Given the description of an element on the screen output the (x, y) to click on. 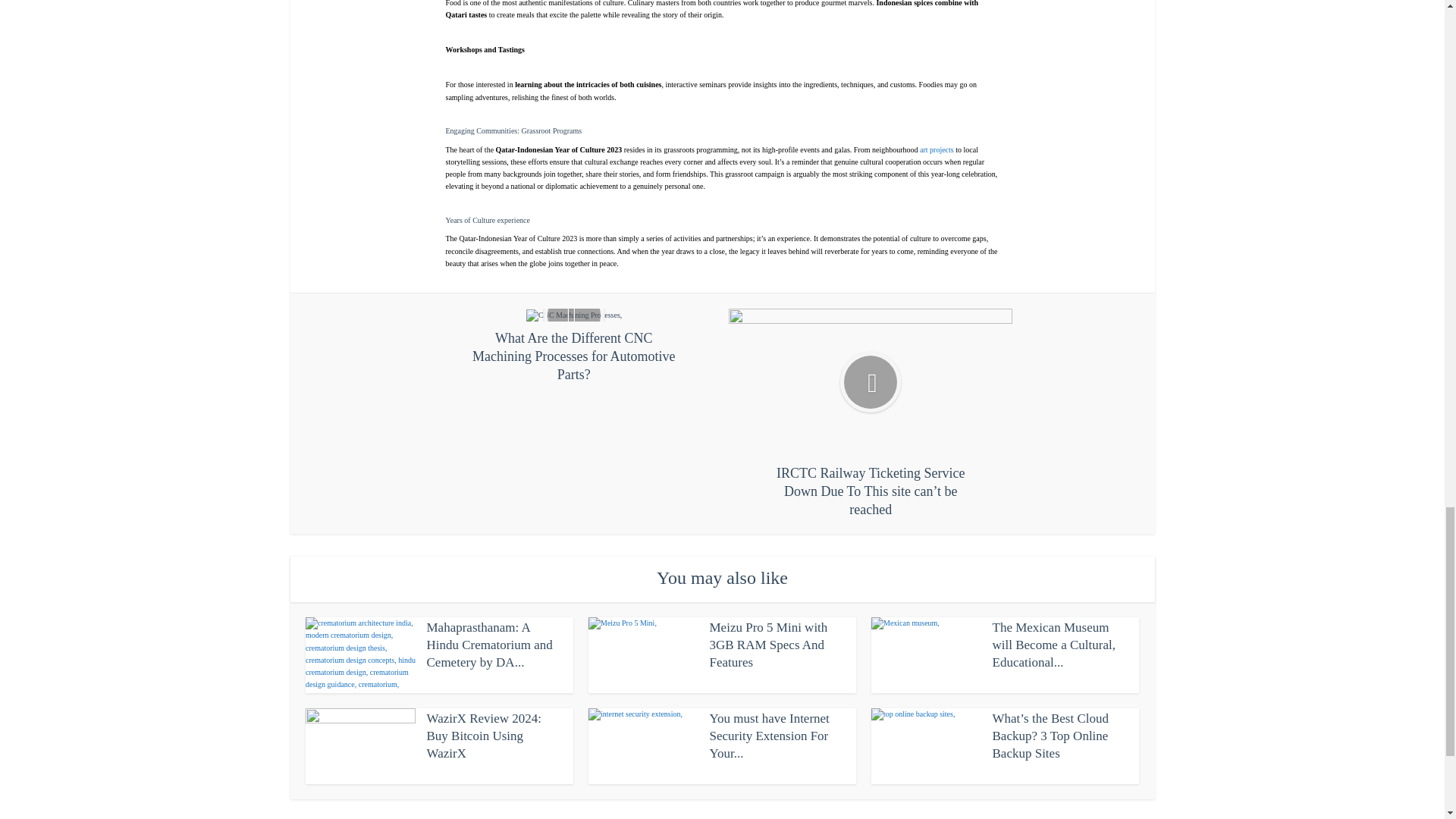
The Mexican Museum will Become a Cultural, Educational... (1053, 644)
Meizu Pro 5 Mini with 3GB RAM Specs And Features (769, 644)
Meizu Pro 5 Mini with 3GB RAM Specs And Features (769, 644)
WazirX Review 2024: Buy Bitcoin Using WazirX (483, 735)
art projects (936, 149)
WazirX Review 2024: Buy Bitcoin Using WazirX (483, 735)
Mahaprasthanam: A Hindu Crematorium and Cemetery by DA... (488, 644)
